Given the description of an element on the screen output the (x, y) to click on. 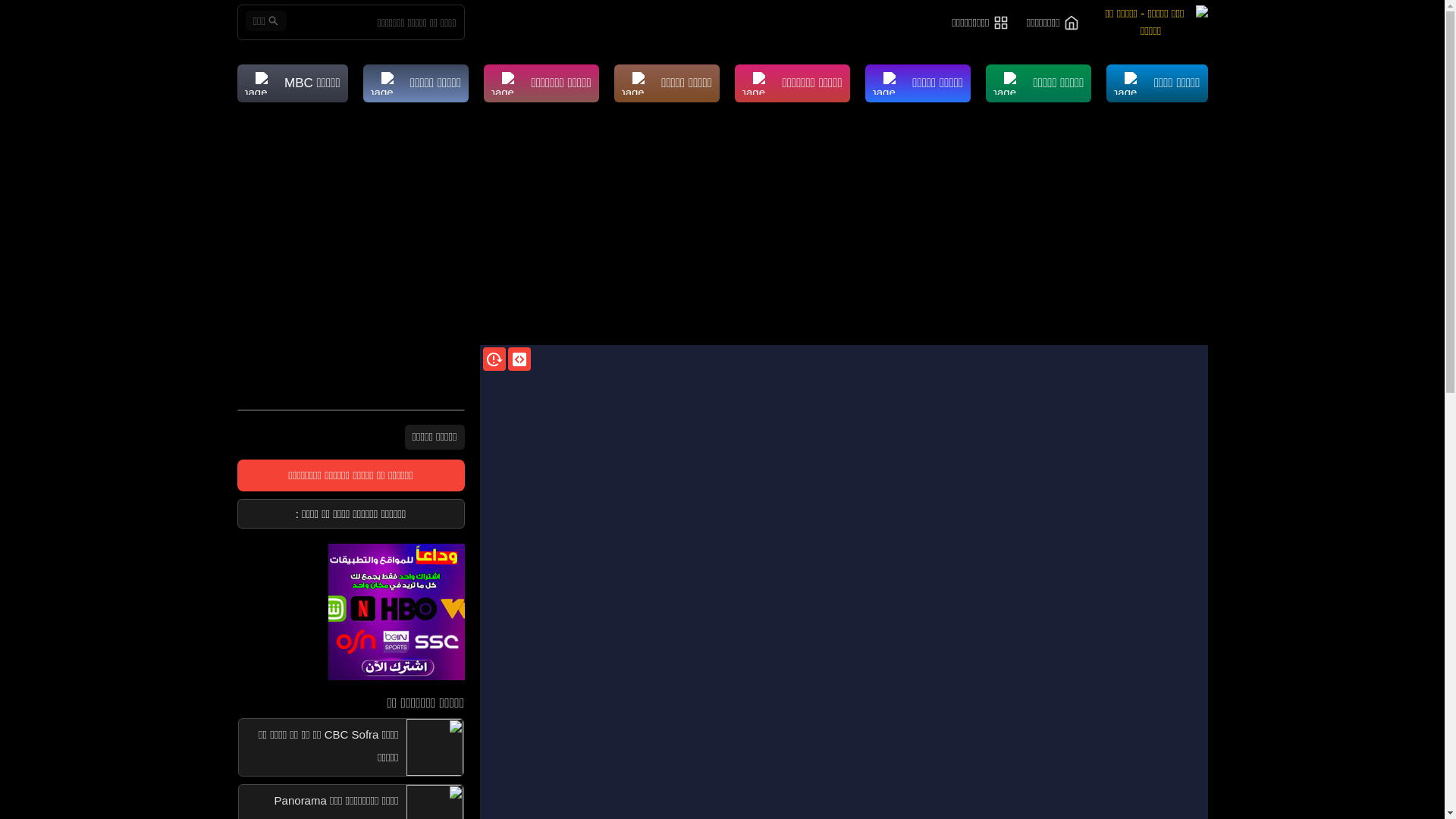
Advertisement Element type: hover (721, 231)
ads Element type: hover (350, 611)
ads Element type: hover (395, 611)
